Given the description of an element on the screen output the (x, y) to click on. 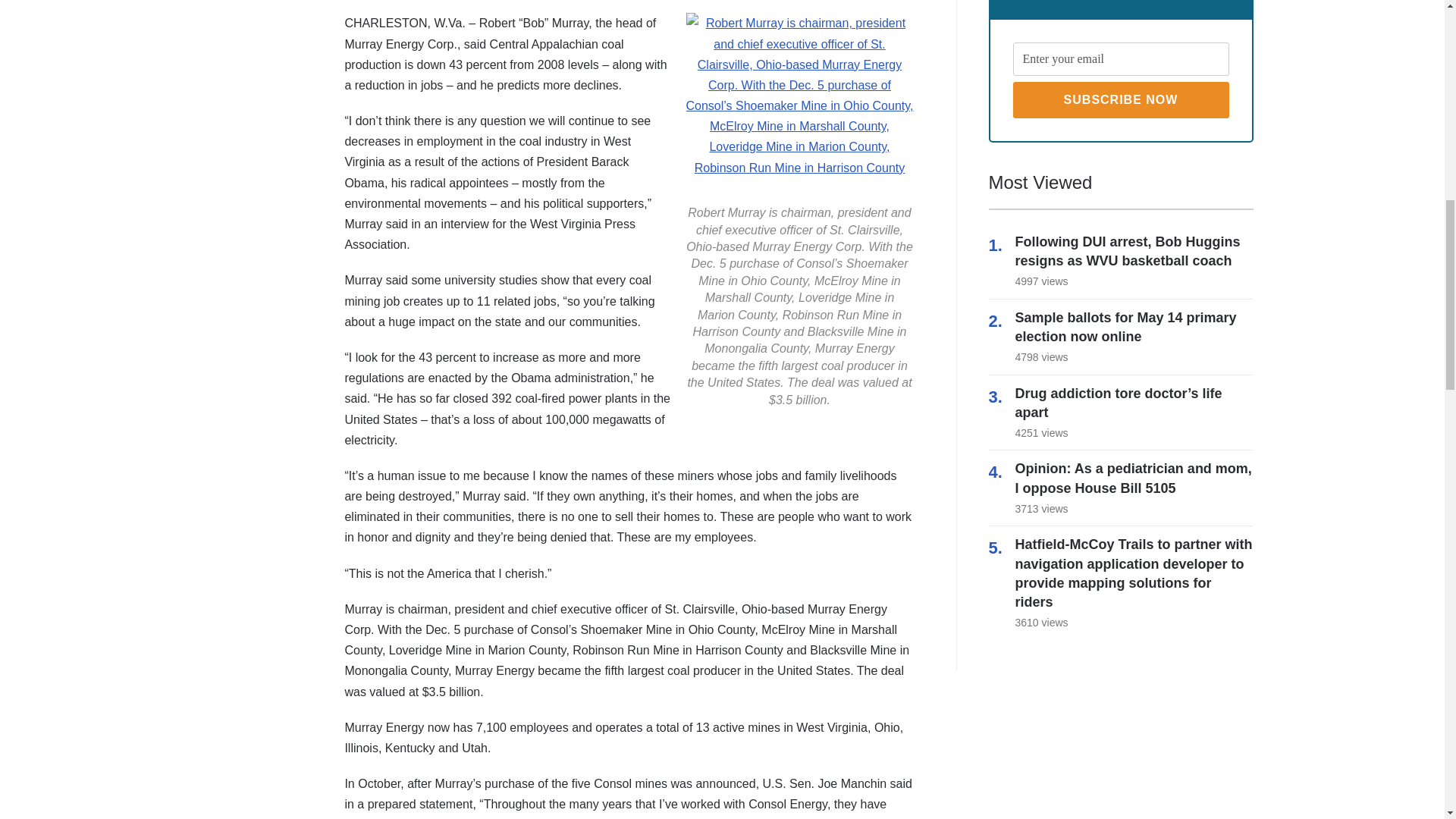
Subscribe Now (1120, 99)
